Given the description of an element on the screen output the (x, y) to click on. 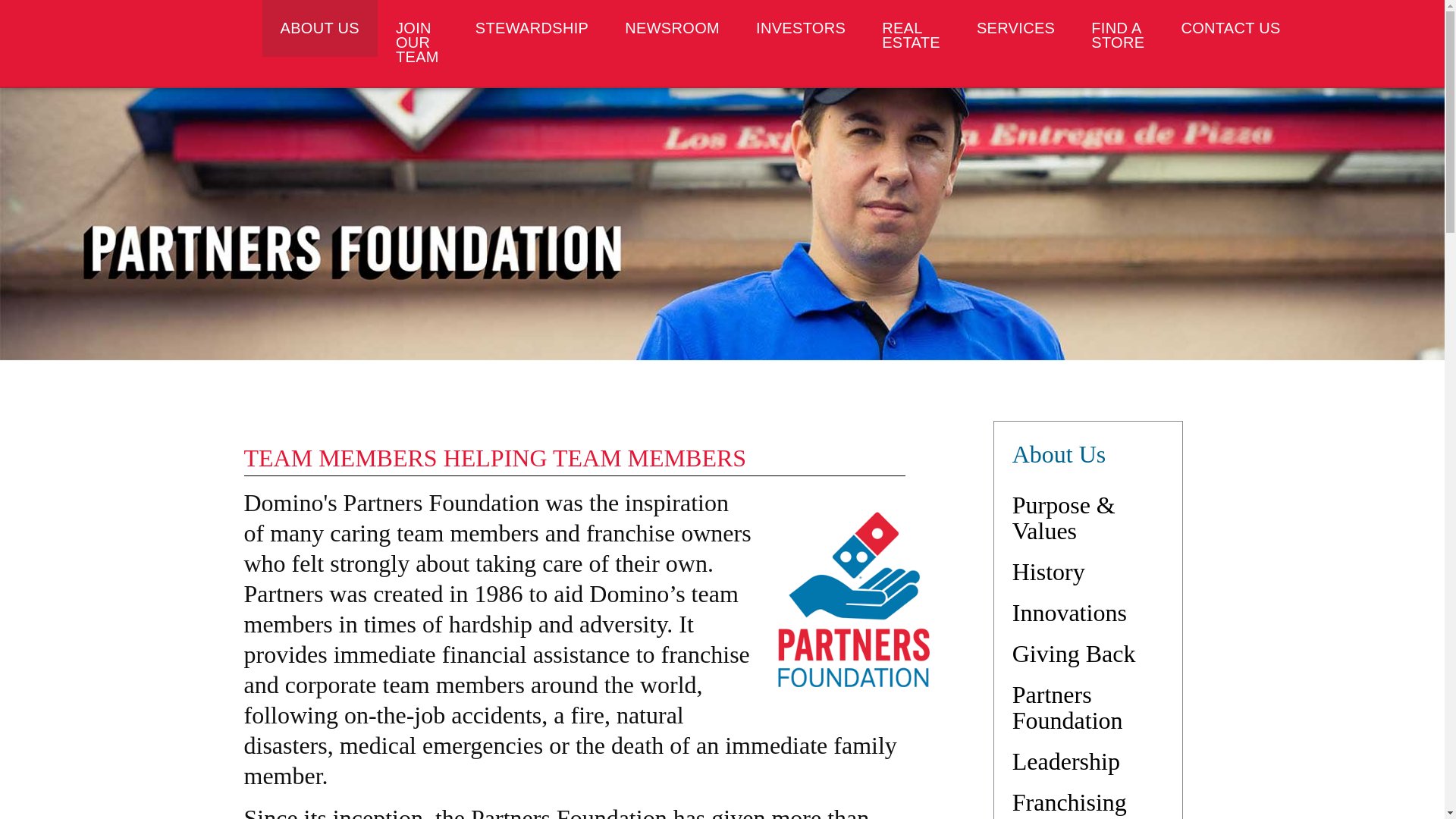
NEWSROOM (672, 28)
REAL ESTATE (910, 35)
INVESTORS (800, 28)
STEWARDSHIP (532, 28)
ABOUT US (319, 28)
SERVICES (1015, 28)
JOIN OUR TEAM (417, 43)
